Given the description of an element on the screen output the (x, y) to click on. 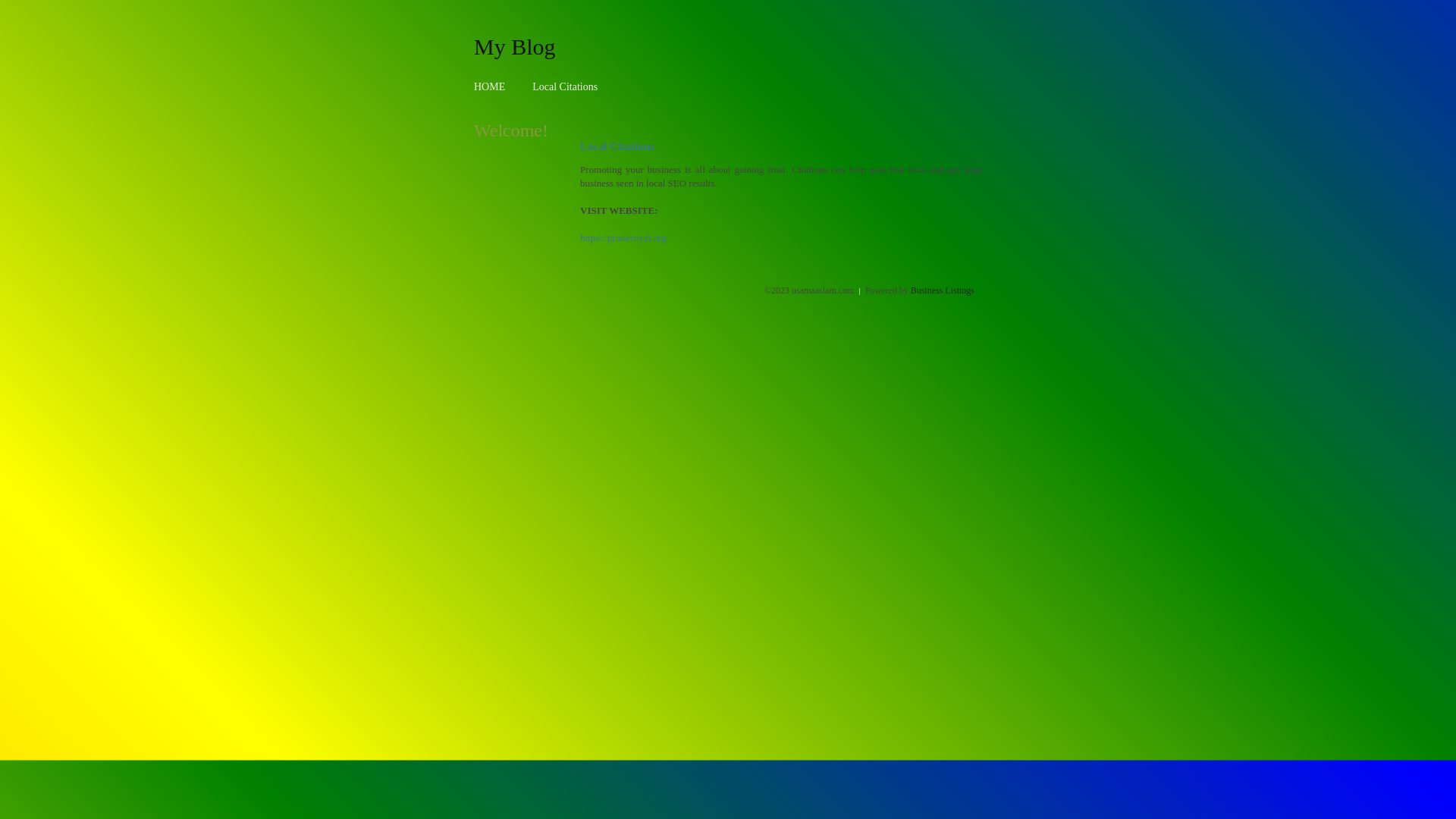
https://primeroyal.org/ Element type: text (624, 237)
Business Listings Element type: text (942, 290)
My Blog Element type: text (514, 46)
Local Citations Element type: text (564, 86)
HOME Element type: text (489, 86)
